Given the description of an element on the screen output the (x, y) to click on. 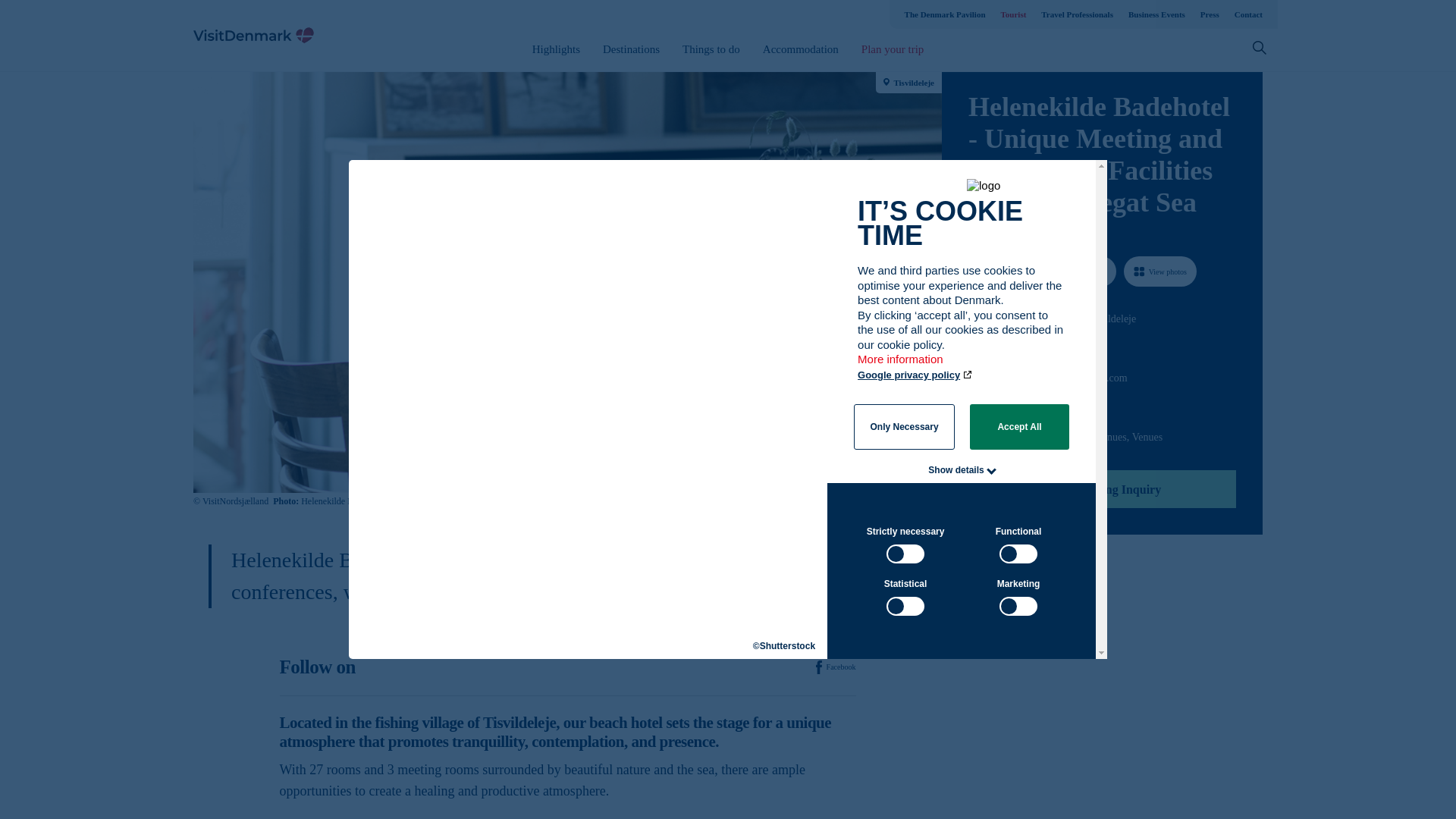
Accept All (1018, 426)
Only Necessary (904, 426)
More information (900, 366)
Path (973, 346)
Google privacy policy (915, 374)
Show details (956, 470)
Path (973, 406)
